Given the description of an element on the screen output the (x, y) to click on. 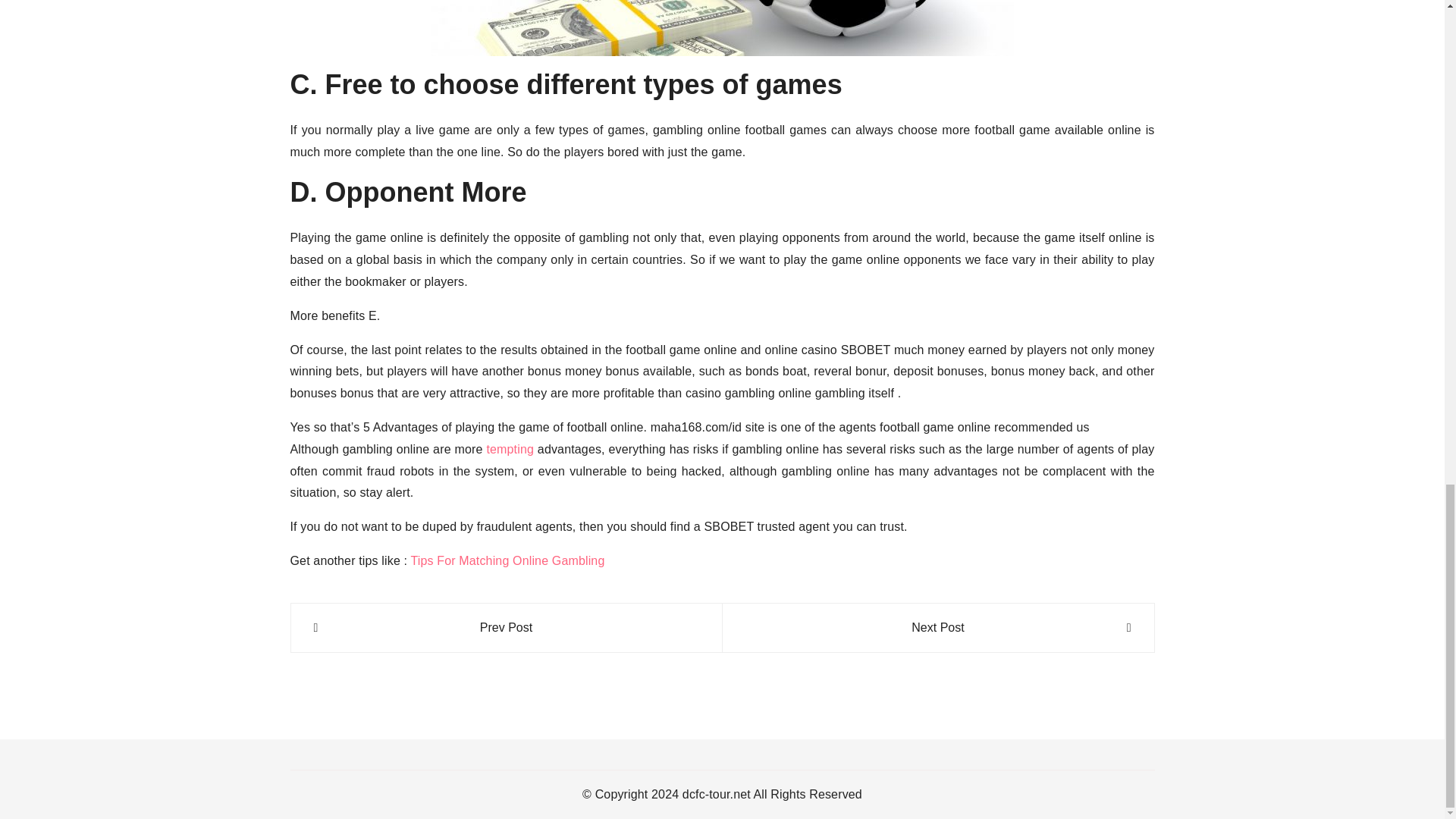
Next Post (937, 628)
tempting (510, 449)
Tips For Matching Online Gambling (507, 560)
Prev Post (506, 628)
